Given the description of an element on the screen output the (x, y) to click on. 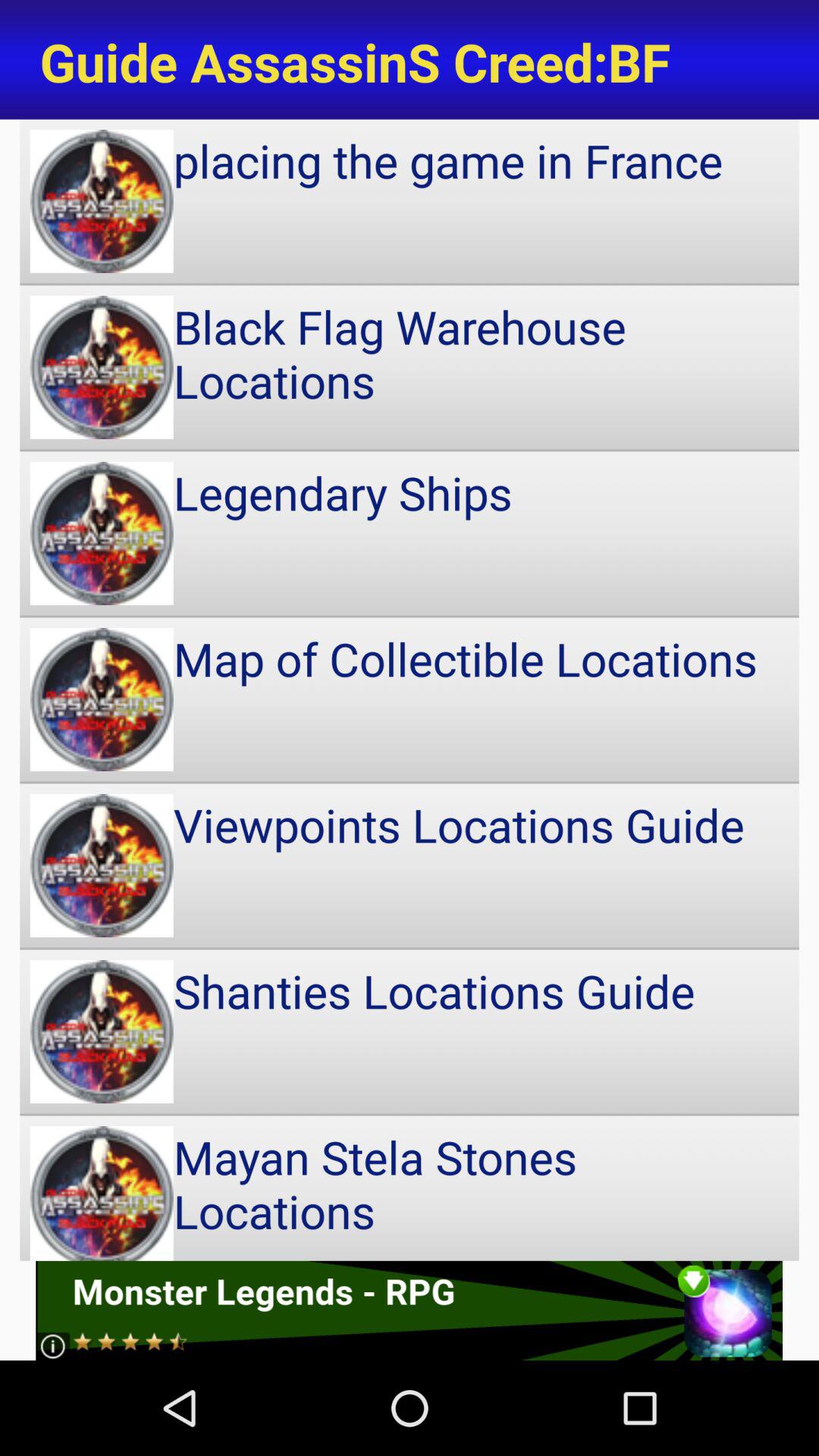
press the icon below placing the game item (409, 367)
